Given the description of an element on the screen output the (x, y) to click on. 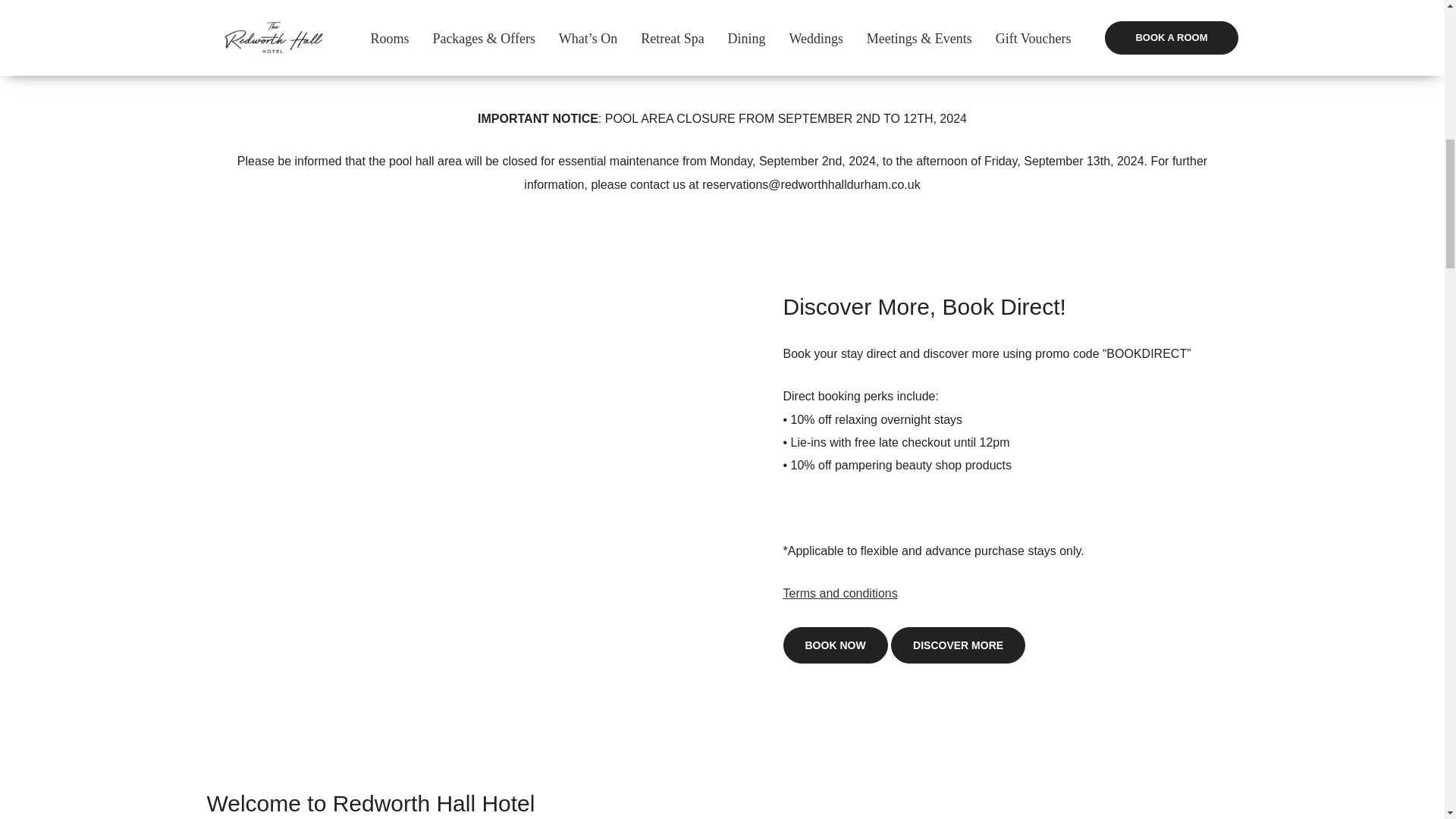
BOOK NOW (1174, 35)
BOOK NOW (834, 645)
Terms and conditions (839, 593)
DISCOVER MORE (958, 645)
